Given the description of an element on the screen output the (x, y) to click on. 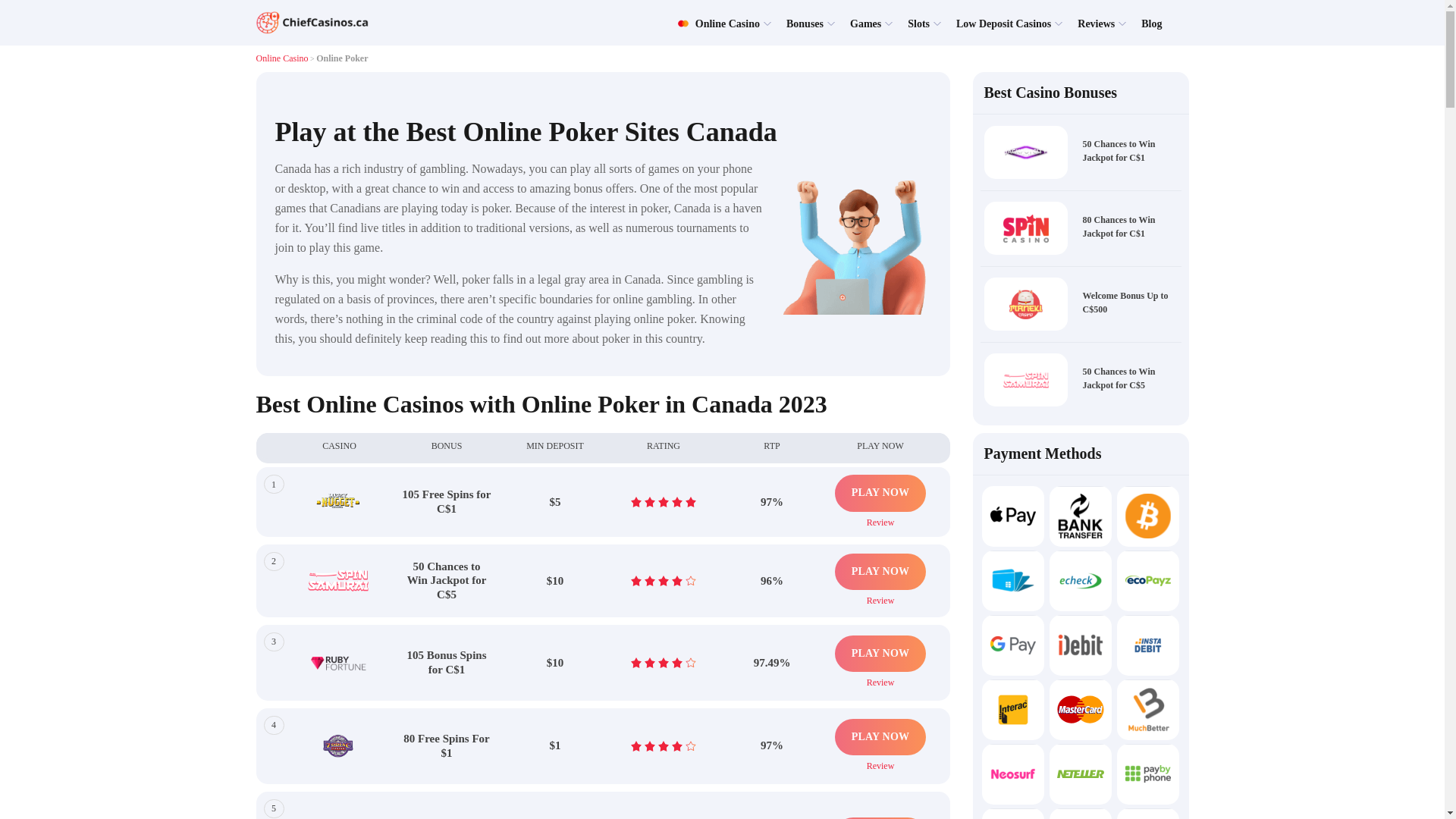
PLAY NOW (880, 493)
Low Deposit Casinos (1003, 23)
Bonuses (805, 23)
Blog (1151, 23)
Online Casino (282, 58)
Review (880, 520)
Slots (918, 23)
PLAY NOW (880, 571)
Online Casino (718, 23)
